Given the description of an element on the screen output the (x, y) to click on. 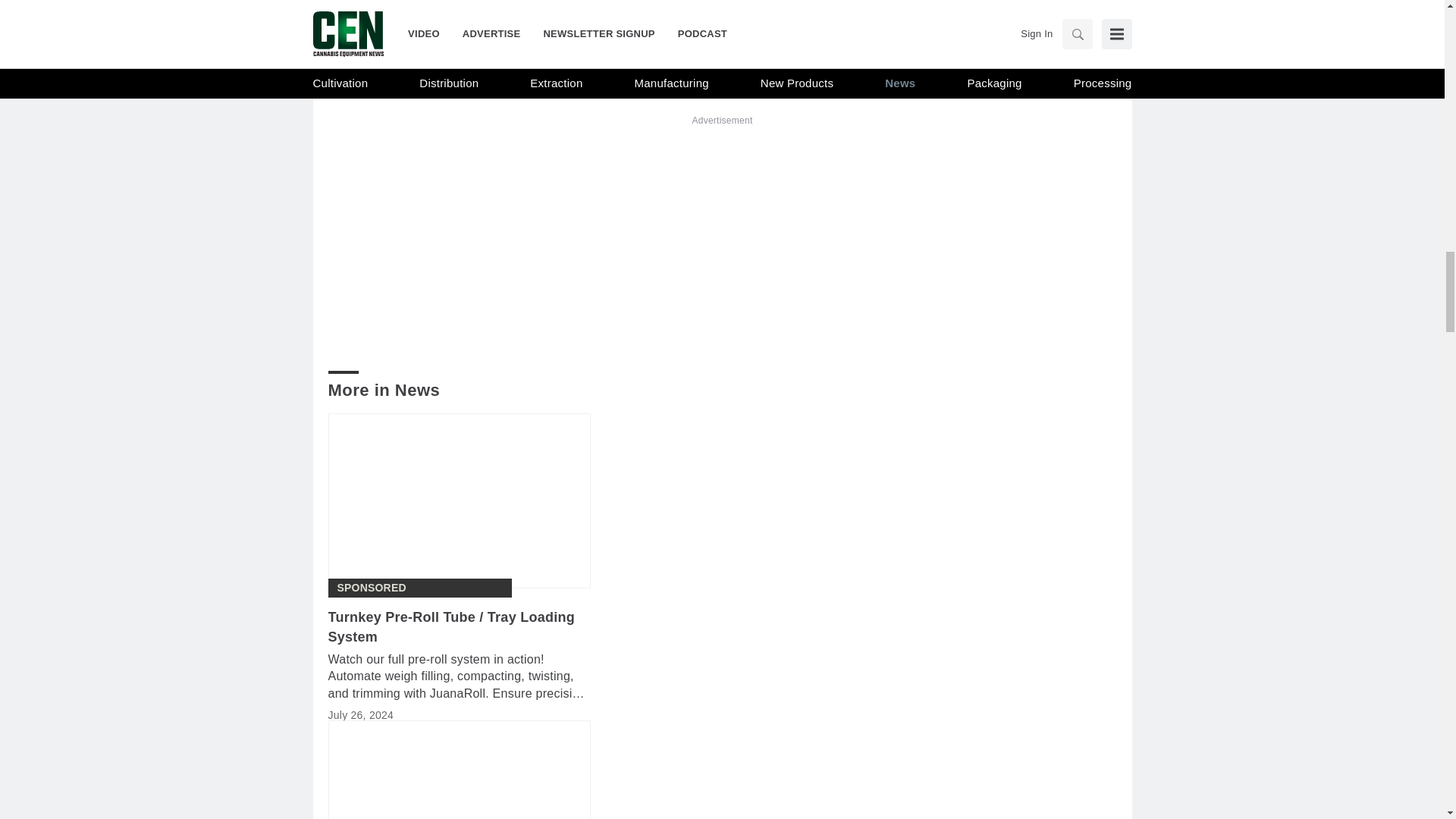
Sponsored (371, 587)
